Given the description of an element on the screen output the (x, y) to click on. 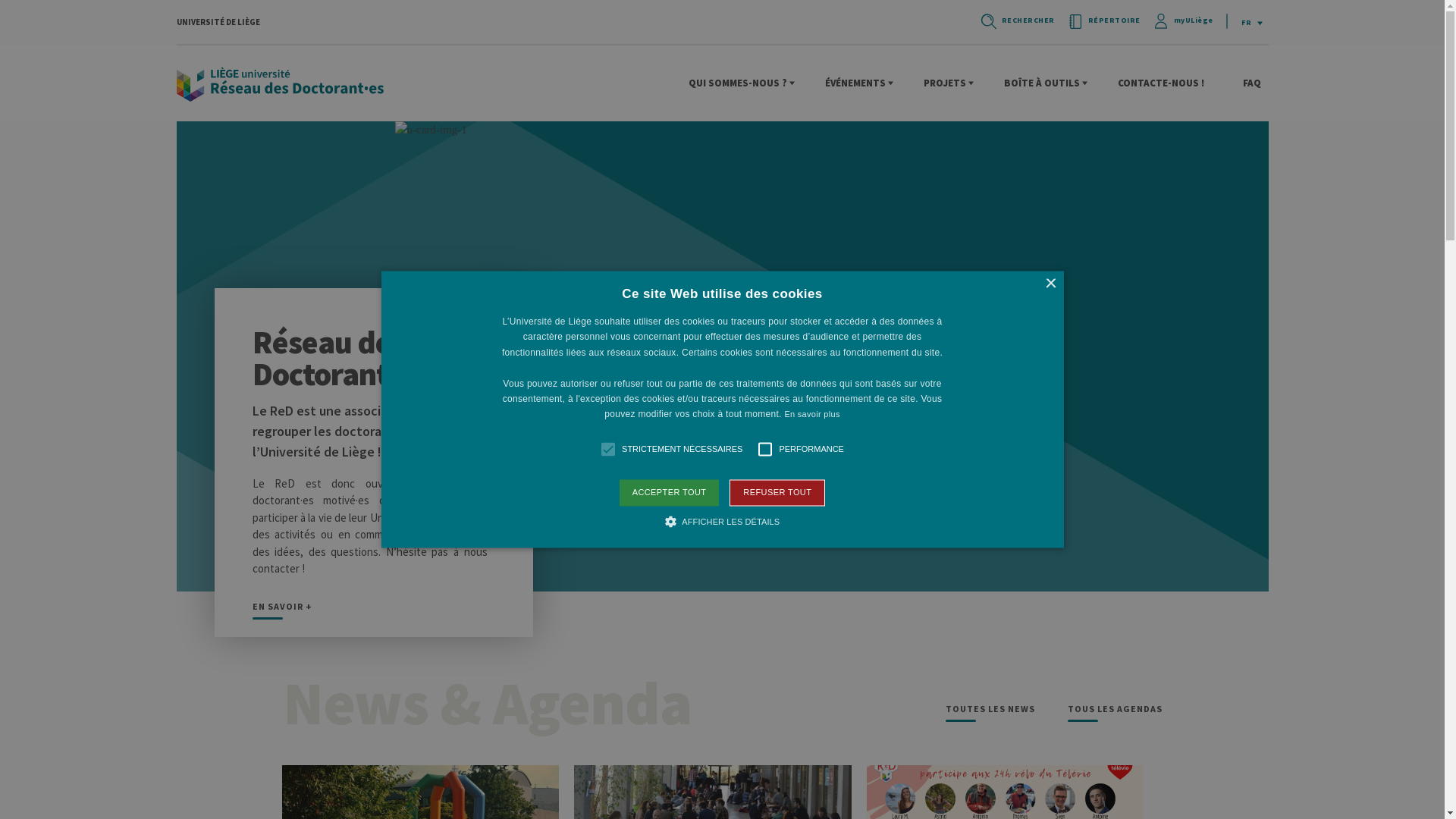
EN SAVOIR + Element type: text (281, 609)
FAQ Element type: text (1254, 83)
FR Element type: text (1251, 22)
RECHERCHER Element type: text (1016, 21)
QUI SOMMES-NOUS ? Element type: text (741, 83)
En savoir plus Element type: text (811, 414)
PROJETS Element type: text (948, 83)
TOUS LES AGENDAS Element type: text (1114, 711)
TOUTES LES NEWS Element type: text (989, 711)
CONTACTE-NOUS ! Element type: text (1164, 83)
